Given the description of an element on the screen output the (x, y) to click on. 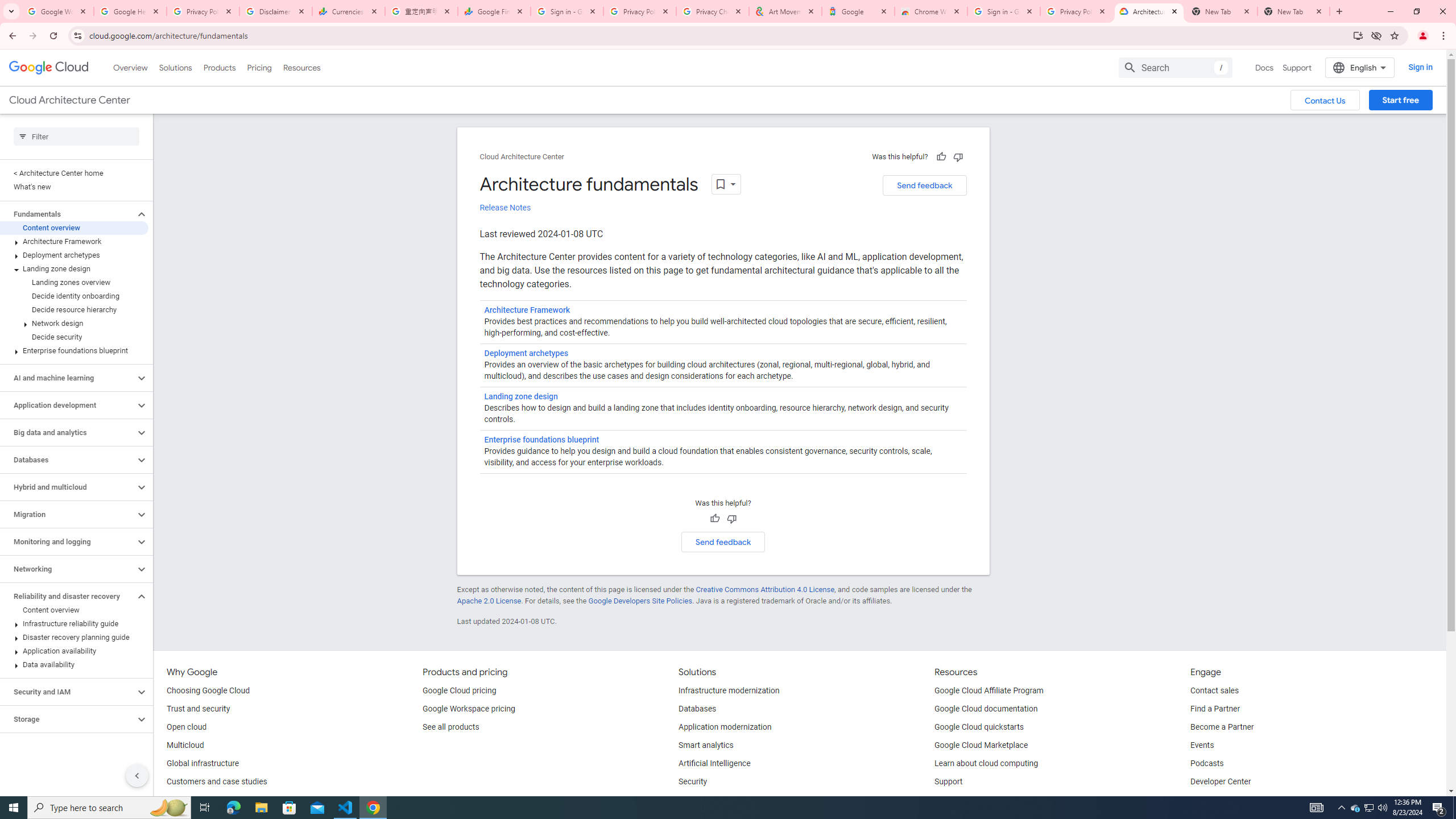
Data availability (74, 664)
Chrome Web Store - Color themes by Chrome (930, 11)
Contact Us (1324, 100)
Open cloud (185, 727)
Application modernization (724, 727)
